Given the description of an element on the screen output the (x, y) to click on. 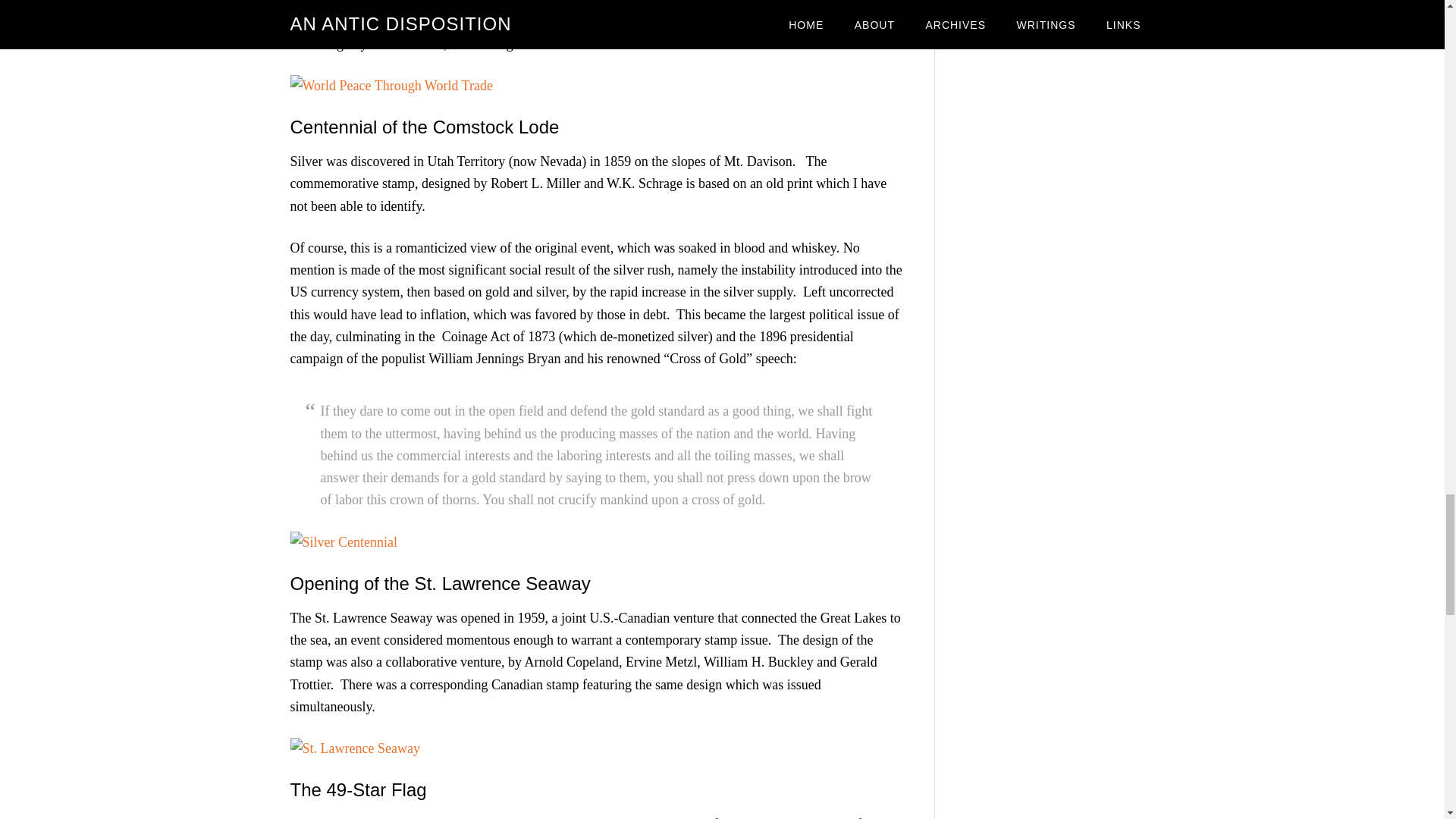
St. Lawrence Seaway (354, 748)
Silver Centennial (342, 541)
World Peace Through World Trade (390, 85)
